Given the description of an element on the screen output the (x, y) to click on. 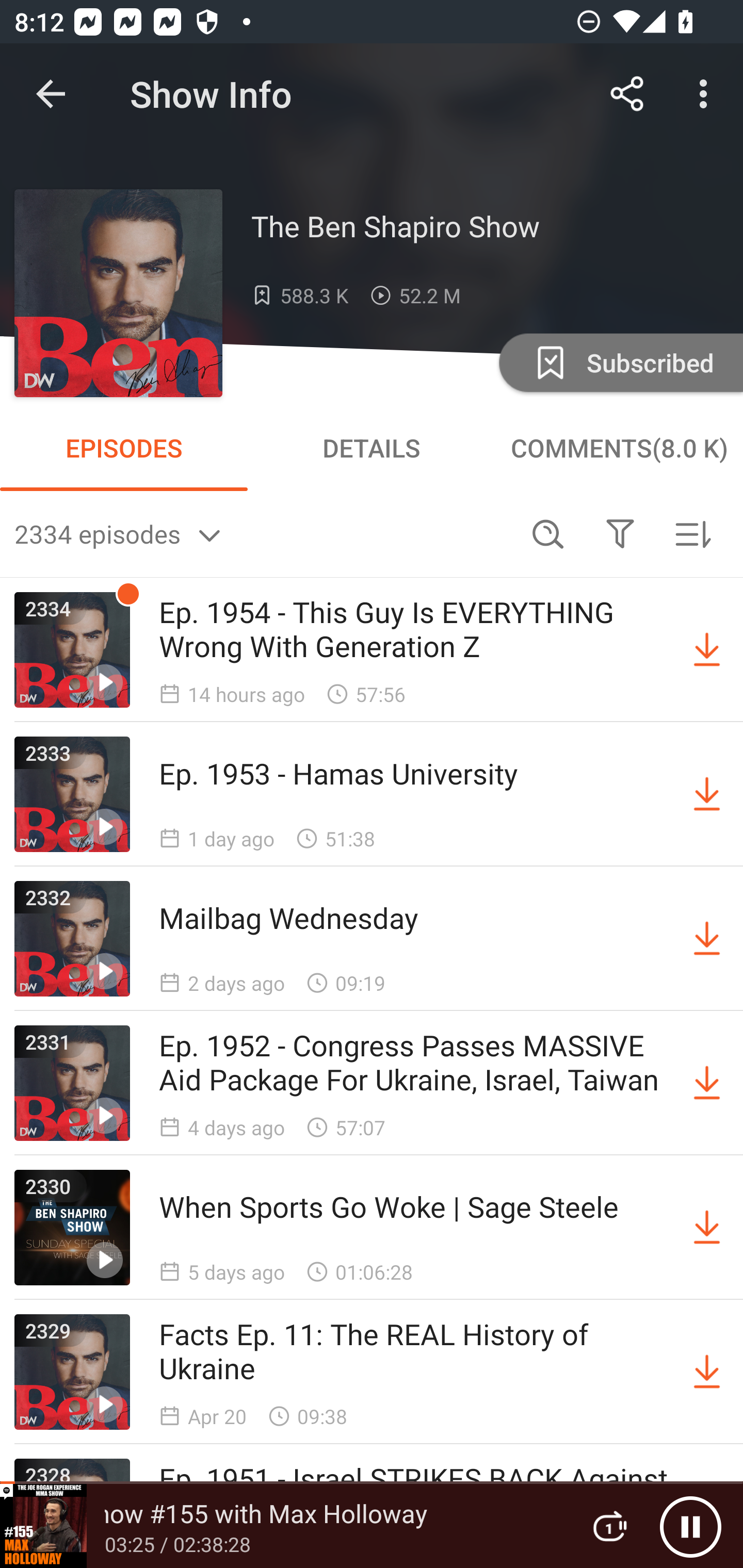
Navigate up (50, 93)
Share (626, 93)
More options (706, 93)
Unsubscribe Subscribed (619, 361)
EPISODES (123, 447)
DETAILS (371, 447)
COMMENTS(8.0 K) (619, 447)
2334 episodes  (262, 533)
 Search (547, 533)
 (619, 533)
 Sorted by newest first (692, 533)
Download (706, 649)
Download (706, 793)
